Given the description of an element on the screen output the (x, y) to click on. 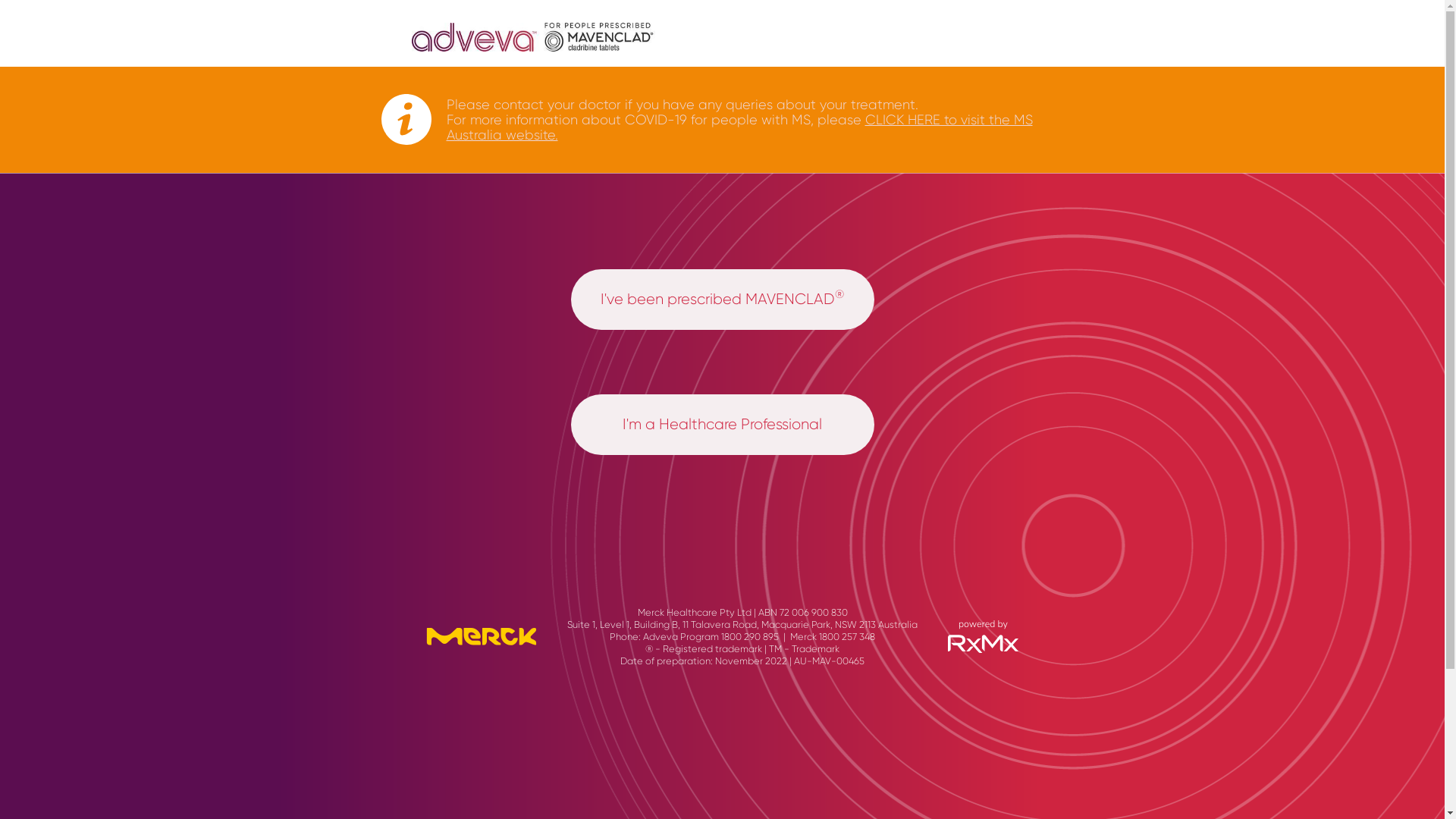
CLICK HERE to visit the MS Australia website. Element type: text (738, 127)
I'm a Healthcare Professional Element type: text (721, 424)
